Given the description of an element on the screen output the (x, y) to click on. 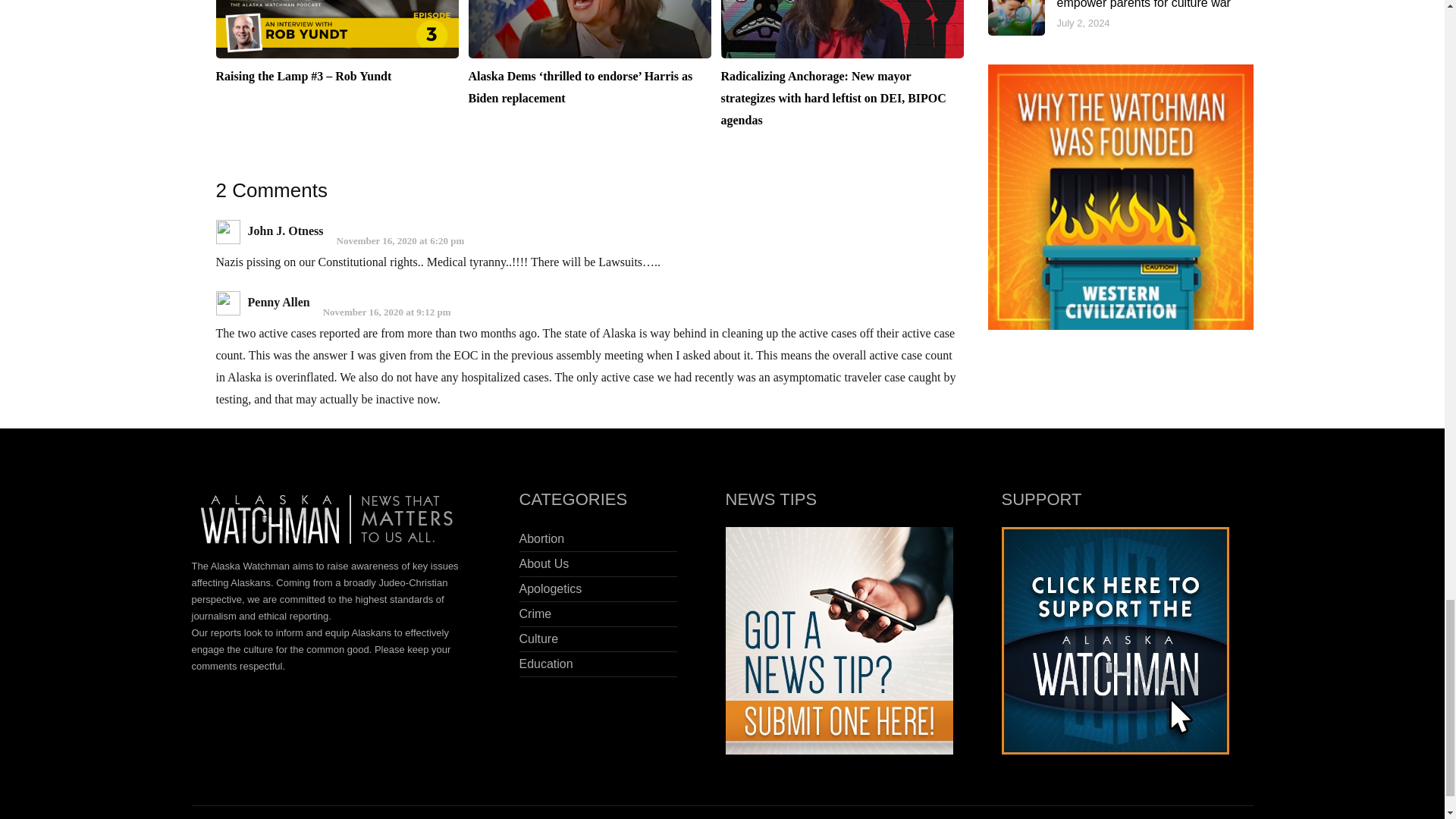
Footer Light Logo and Tag (330, 522)
